Given the description of an element on the screen output the (x, y) to click on. 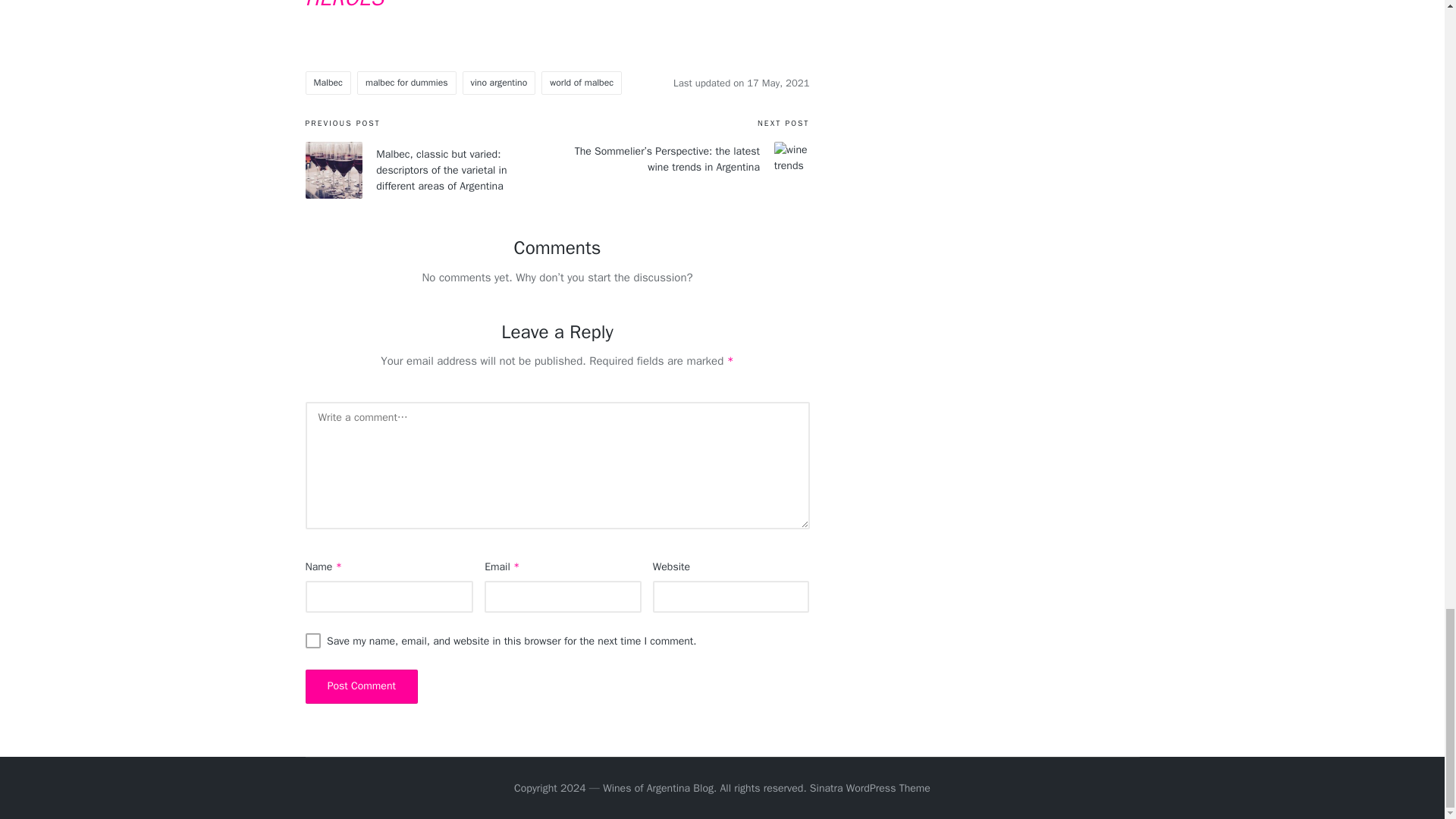
Post Comment (360, 686)
yes (312, 640)
malbec for dummies (406, 82)
Post Comment (360, 686)
vino argentino (499, 82)
Malbec (327, 82)
world of malbec (581, 82)
